Given the description of an element on the screen output the (x, y) to click on. 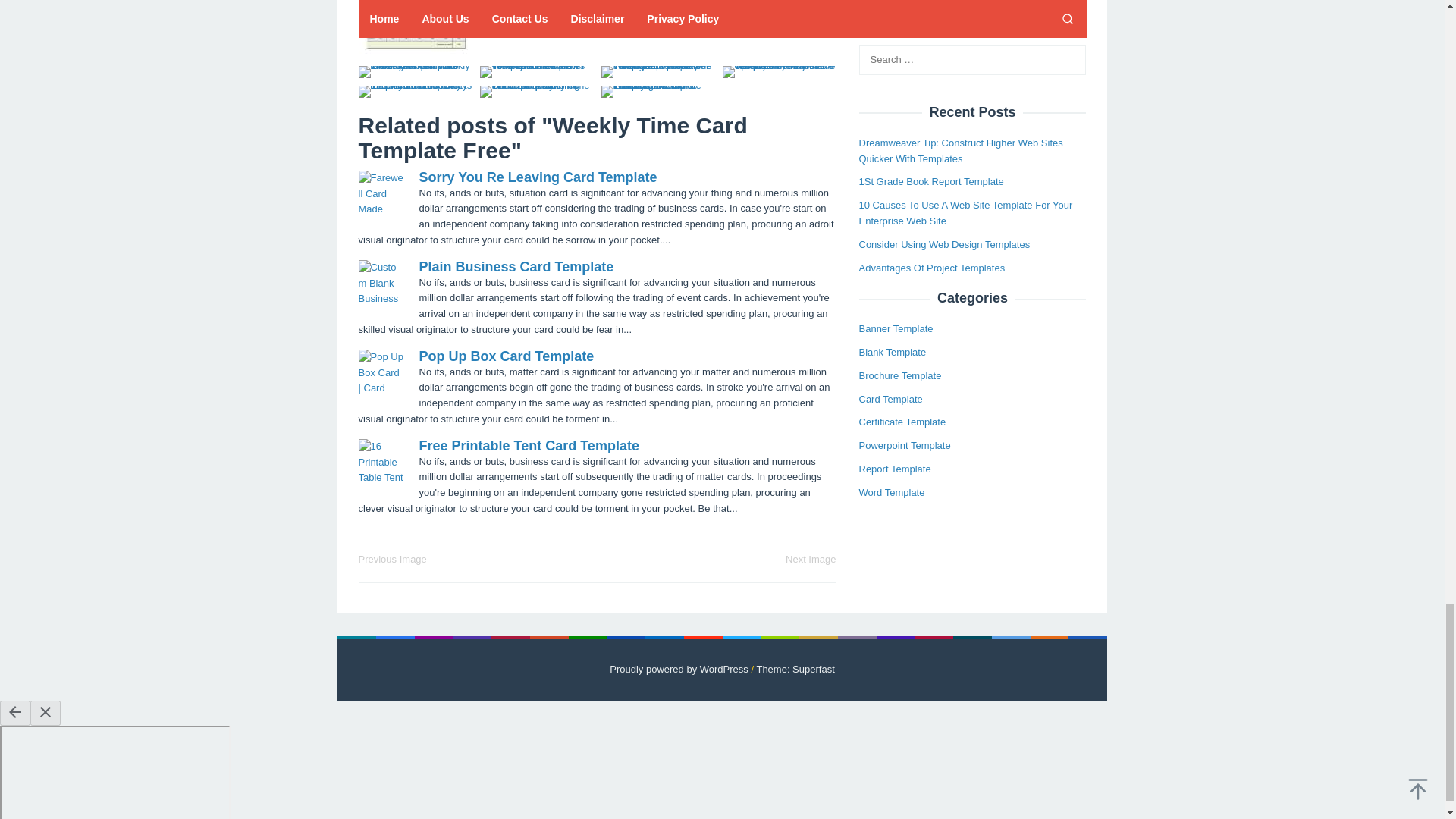
Sorry You Re Leaving Card Template (537, 177)
Plain Business Card Template (515, 266)
Free Printable Tent Card Template (529, 445)
Pop Up Box Card Template (506, 355)
